Given the description of an element on the screen output the (x, y) to click on. 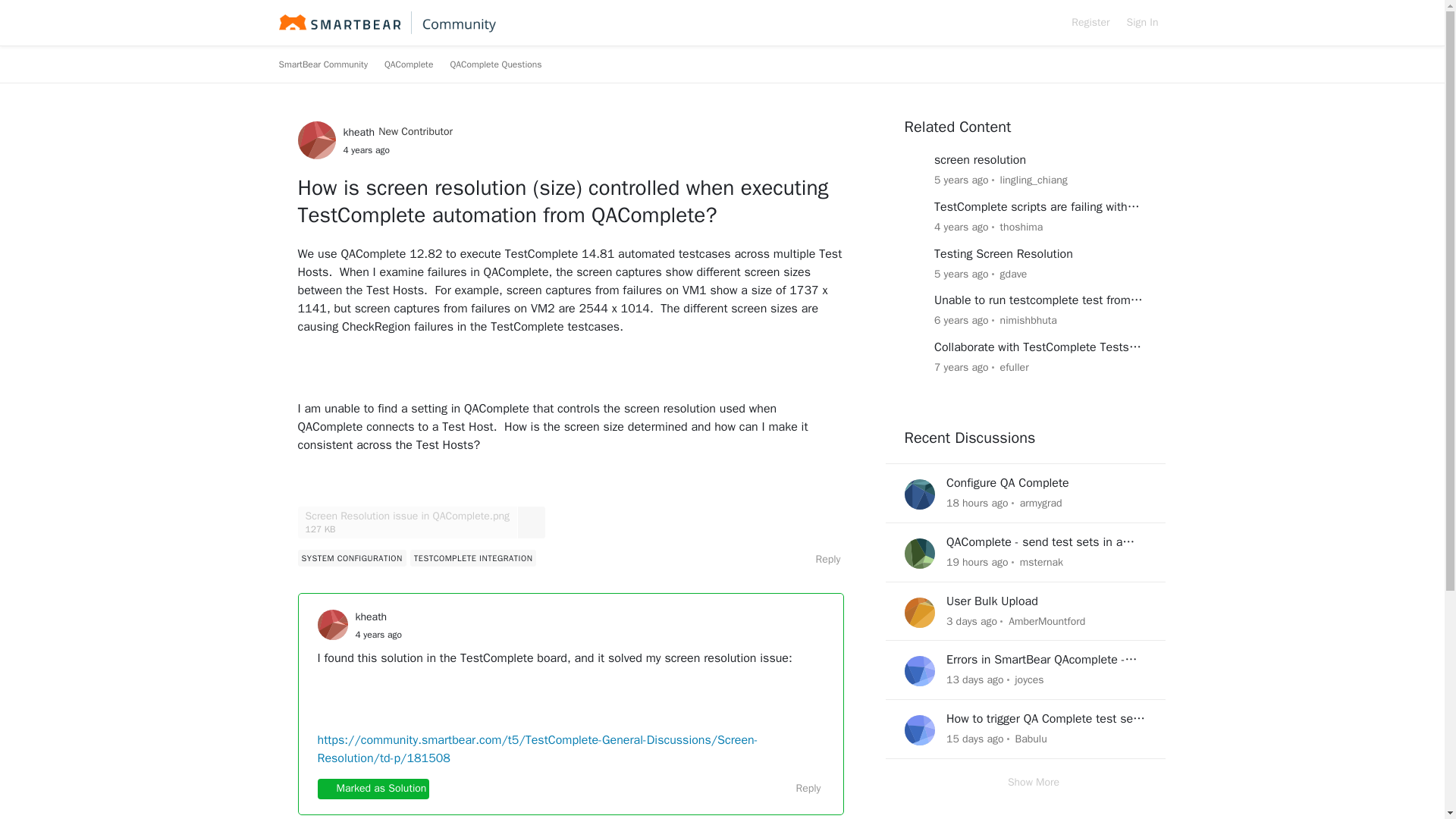
Skip to content (329, 45)
kheath (371, 616)
September 18, 2019 at 5:27 PM (961, 179)
QAComplete (408, 64)
August 20, 2024 at 8:54 PM (977, 502)
kheath (358, 132)
September 25, 2017 at 12:38 PM (961, 367)
SYSTEM CONFIGURATION (351, 557)
Marked as Solution (373, 788)
September 29, 2020 at 12:58 PM (961, 226)
